Given the description of an element on the screen output the (x, y) to click on. 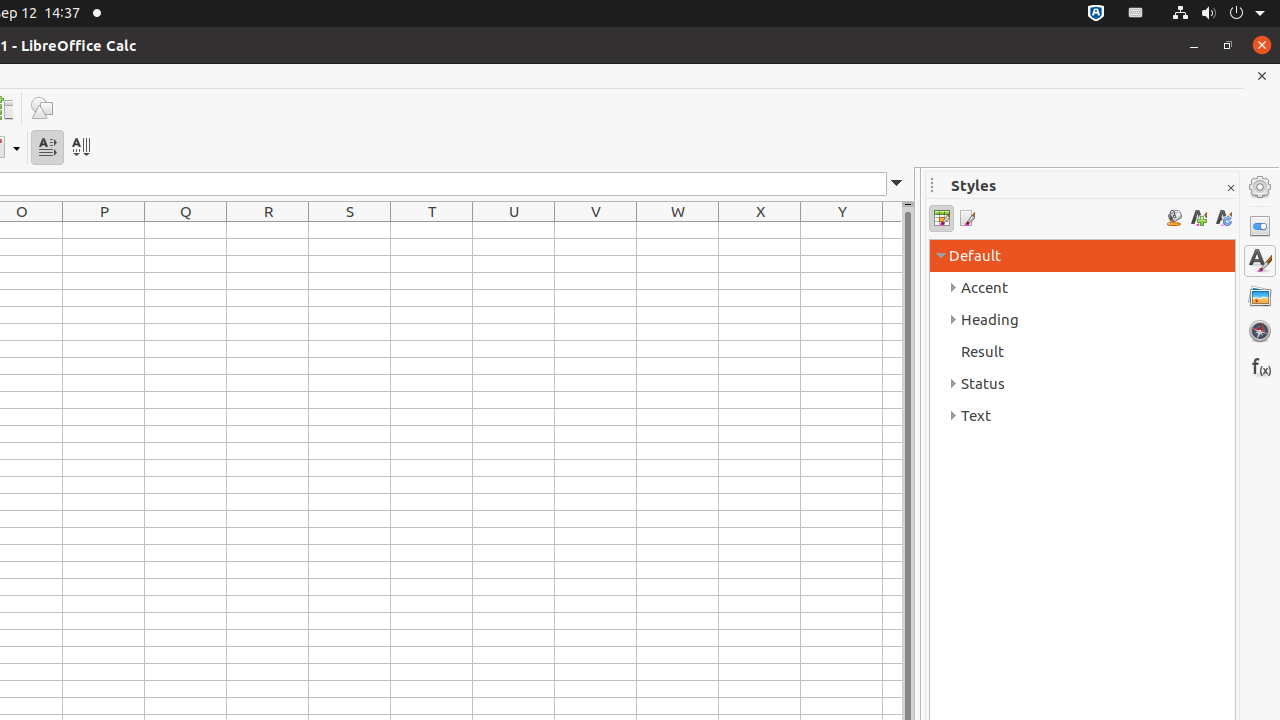
Styles Element type: radio-button (1260, 261)
Text direction from top to bottom Element type: toggle-button (80, 147)
S1 Element type: table-cell (350, 230)
Y1 Element type: table-cell (842, 230)
W1 Element type: table-cell (678, 230)
